Given the description of an element on the screen output the (x, y) to click on. 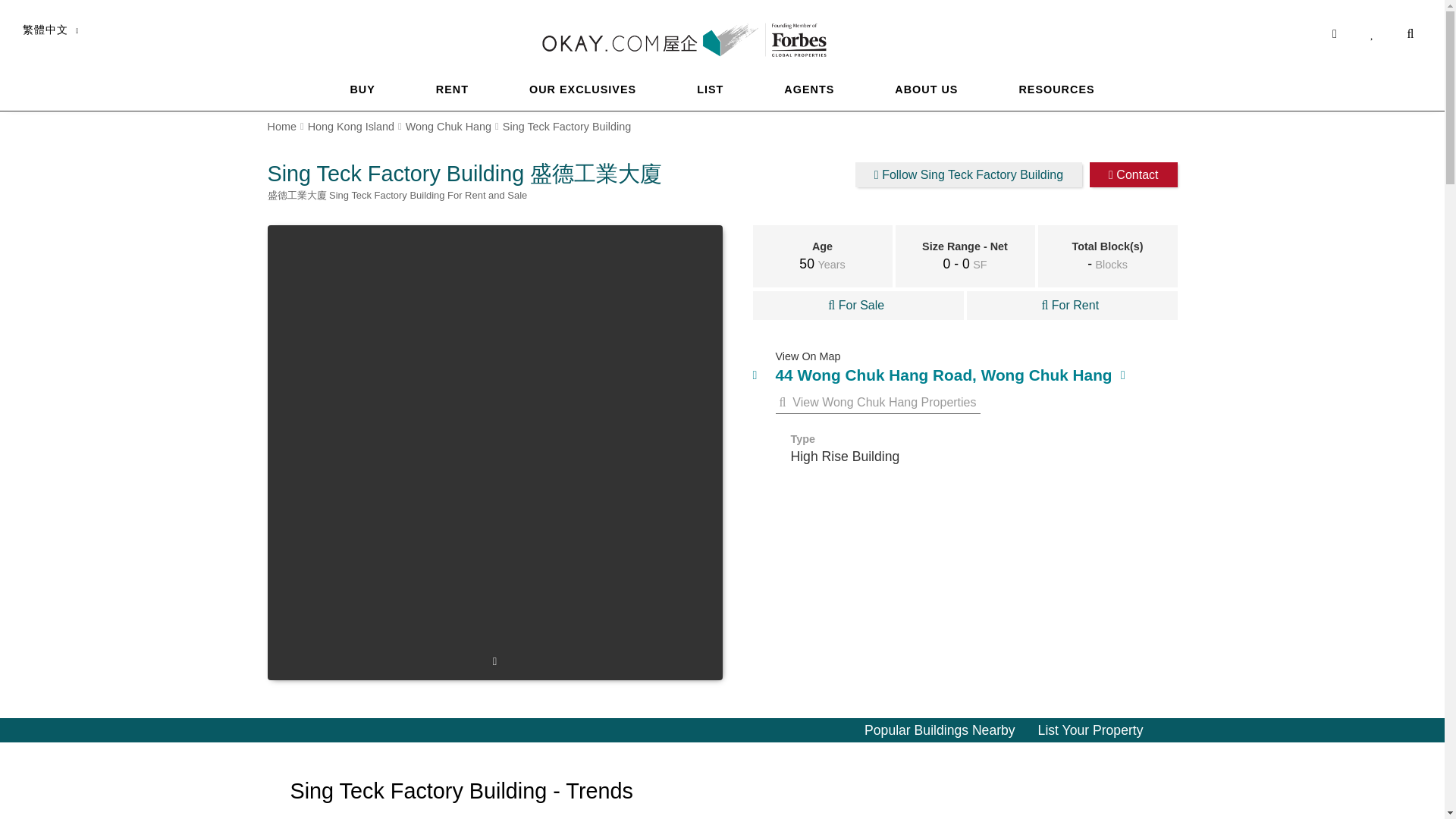
BUY (362, 88)
